Given the description of an element on the screen output the (x, y) to click on. 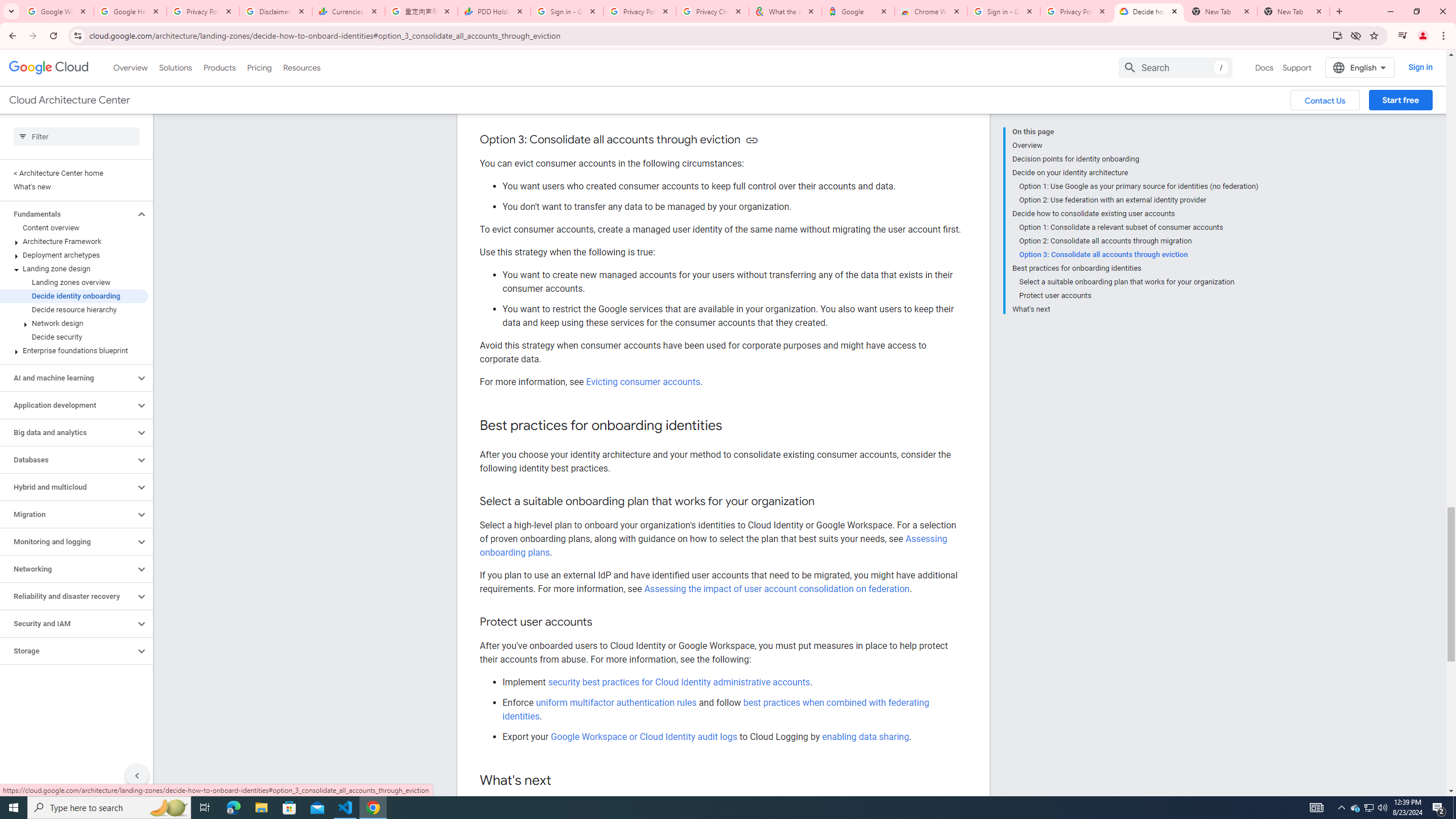
Currencies - Google Finance (348, 11)
PDD Holdings Inc - ADR (PDD) Price & News - Google Finance (493, 11)
Landing zone design (74, 269)
Migrating consumer accounts (646, 106)
Best practices for onboarding identities (1134, 268)
uniform multifactor authentication rules  (616, 702)
Fundamentals (67, 214)
Type to filter (76, 136)
Protect user accounts (1138, 295)
